Given the description of an element on the screen output the (x, y) to click on. 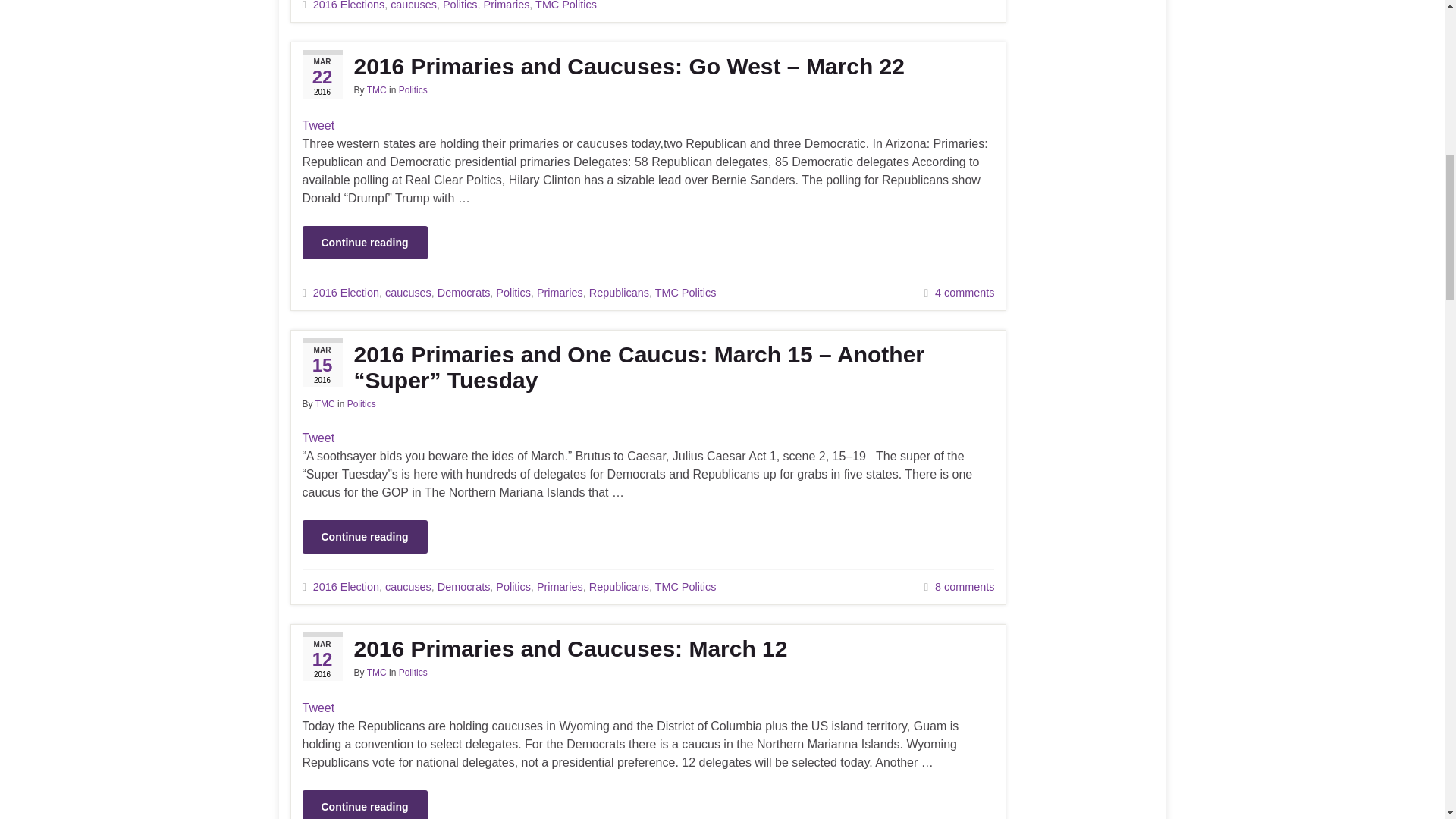
Politics (413, 90)
caucuses (407, 292)
TMC (324, 403)
TMC Politics (565, 5)
2016 Election (345, 292)
4 comments (964, 292)
Politics (513, 292)
Continue reading (363, 242)
Permalink to 2016 Primaries and Caucuses: March 12 (647, 648)
Primaries (506, 5)
Politics (459, 5)
TMC (376, 90)
Republicans (619, 292)
TMC Politics (685, 292)
Tweet (317, 124)
